Given the description of an element on the screen output the (x, y) to click on. 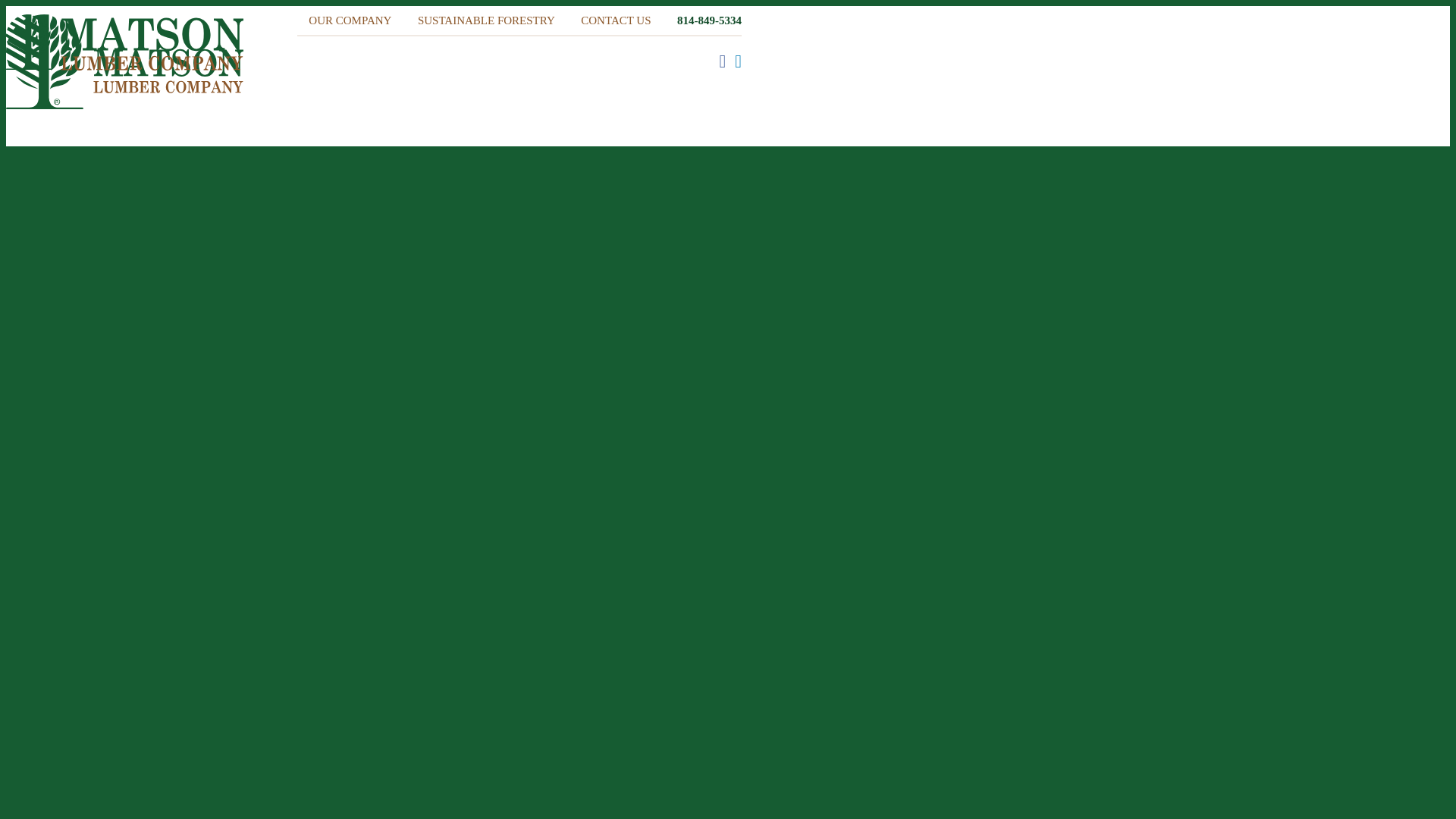
CONTACT US (615, 20)
SUSTAINABLE FORESTRY (486, 20)
814-849-5334 (709, 20)
OUR COMPANY (350, 20)
